Given the description of an element on the screen output the (x, y) to click on. 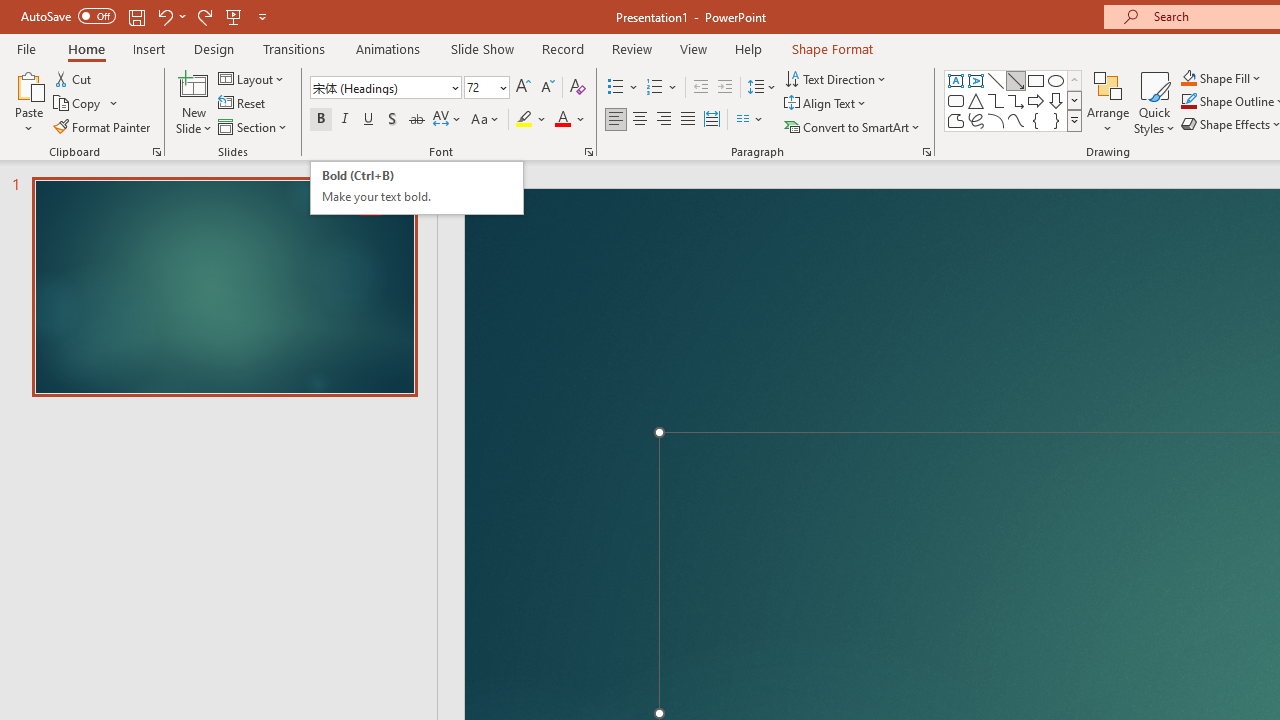
Decrease Font Size (547, 87)
Oval (1055, 80)
Increase Indent (725, 87)
Shape Fill (1221, 78)
Font Color Red (562, 119)
Shape Format (832, 48)
Vertical Text Box (975, 80)
Freeform: Scribble (975, 120)
New Slide (193, 84)
Text Direction (836, 78)
Class: NetUIImage (1075, 120)
